Given the description of an element on the screen output the (x, y) to click on. 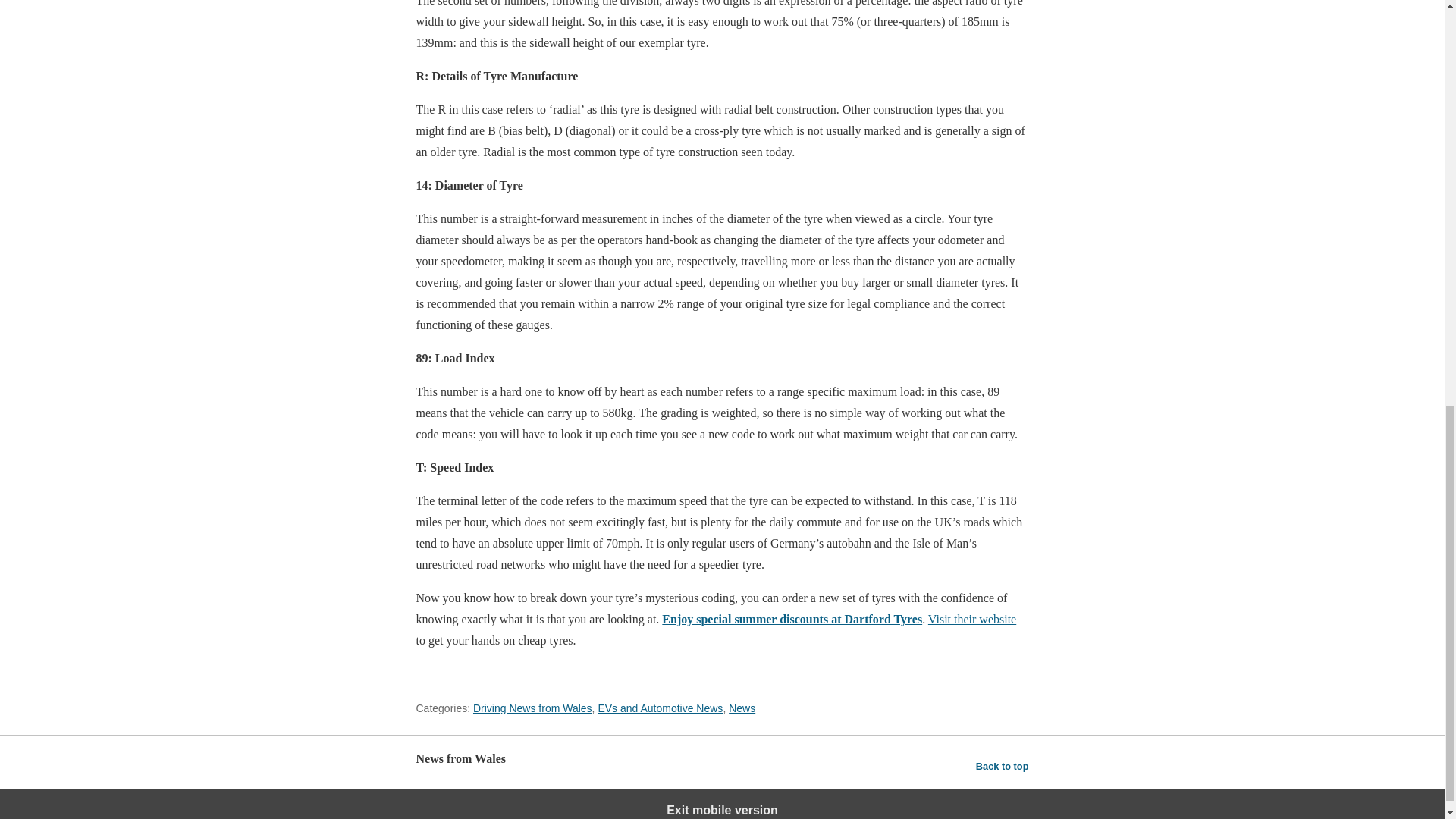
Back to top (1002, 766)
News (742, 707)
Visit their website (972, 618)
EVs and Automotive News (659, 707)
Enjoy special summer discounts at Dartford Tyres (791, 618)
Driving News from Wales (532, 707)
